Given the description of an element on the screen output the (x, y) to click on. 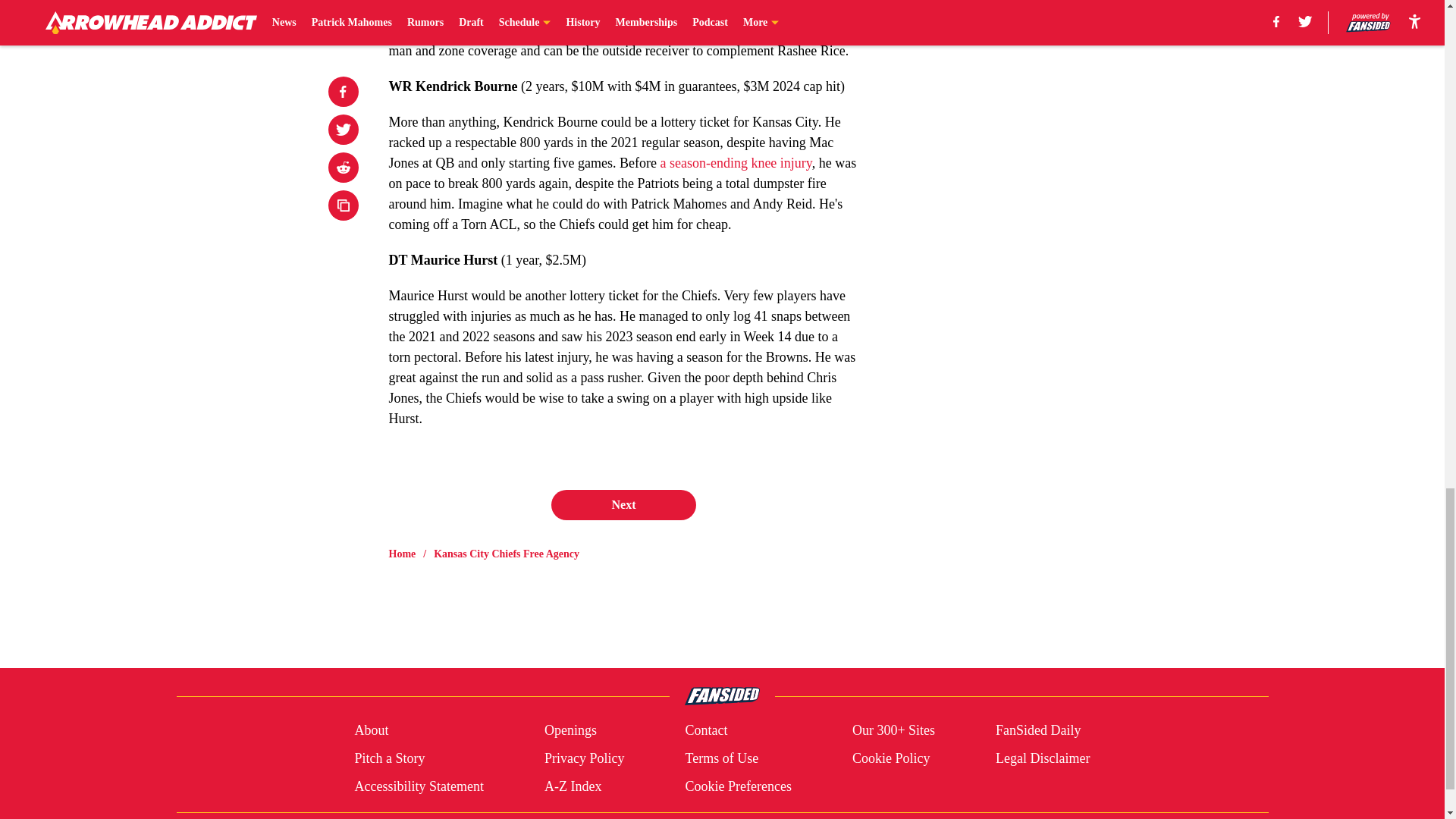
Kansas City Chiefs Free Agency (506, 554)
About (370, 730)
Openings (570, 730)
Next (622, 504)
a season-ending knee injury (734, 162)
Home (401, 554)
Contact (705, 730)
